Given the description of an element on the screen output the (x, y) to click on. 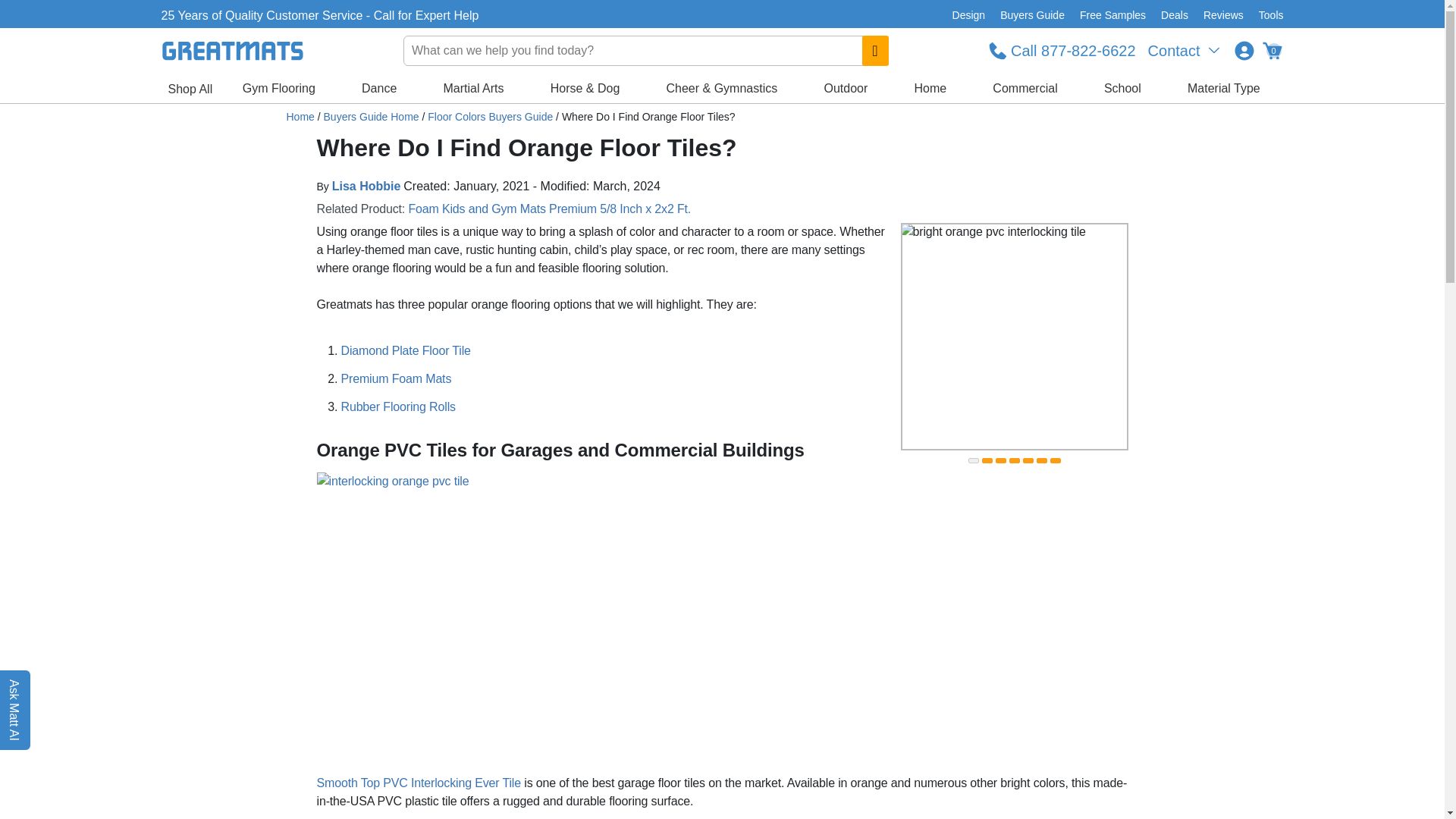
Greatmats (300, 116)
Call 877-822-6622 (1061, 50)
Reviews (1222, 15)
Free Samples (1112, 15)
Design (968, 15)
Buyers Guide (1031, 15)
Contact (1184, 50)
Deals (1174, 15)
Tools (1267, 15)
Shop All (189, 89)
